Given the description of an element on the screen output the (x, y) to click on. 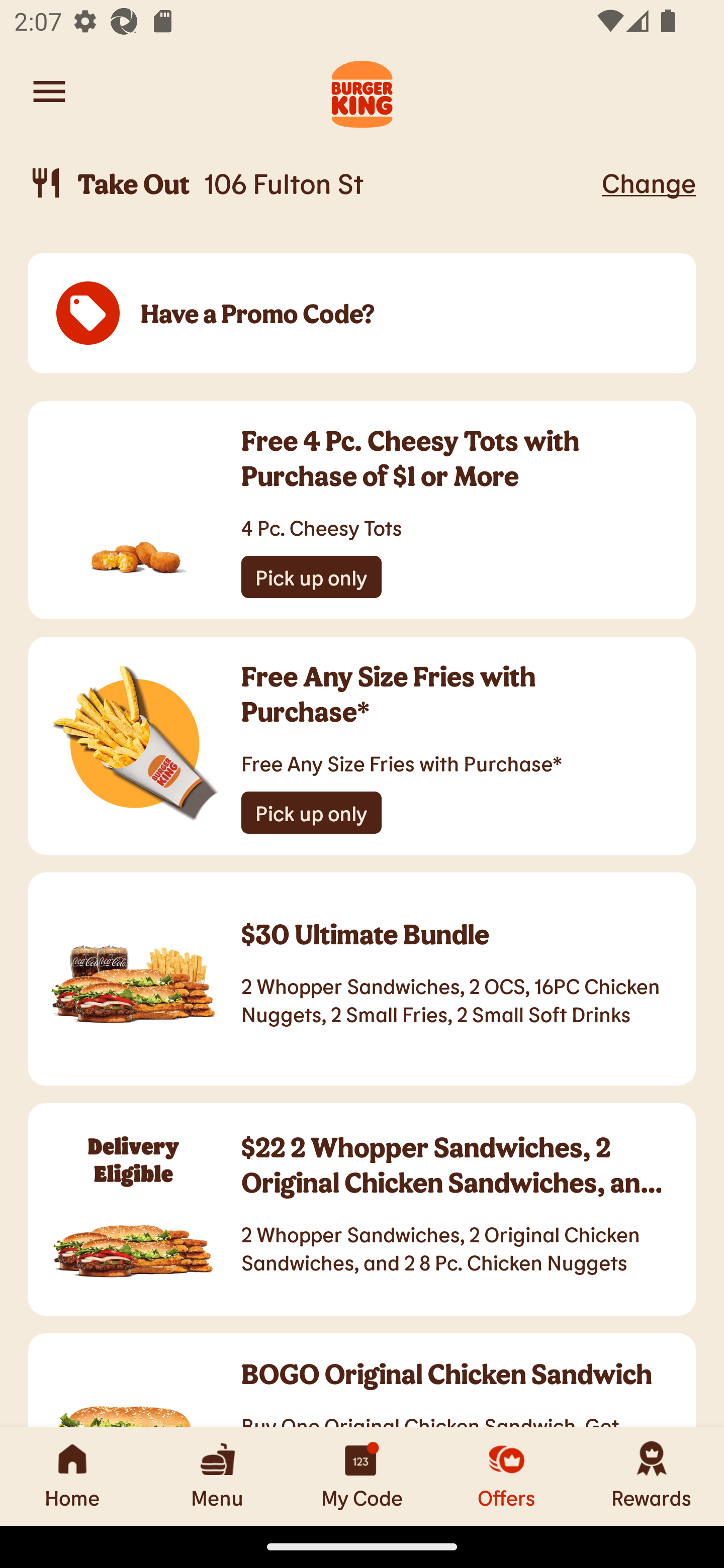
Burger King Logo. Navigate to Home (362, 91)
Navigate to account menu  (49, 91)
Take Out, 106 Fulton St  Take Out 106 Fulton St (311, 183)
Change (648, 182)
Have a Promo Code?  Have a Promo Code? (361, 313)
Home (72, 1475)
Menu (216, 1475)
My Code (361, 1475)
Offers (506, 1475)
Rewards (651, 1475)
